Given the description of an element on the screen output the (x, y) to click on. 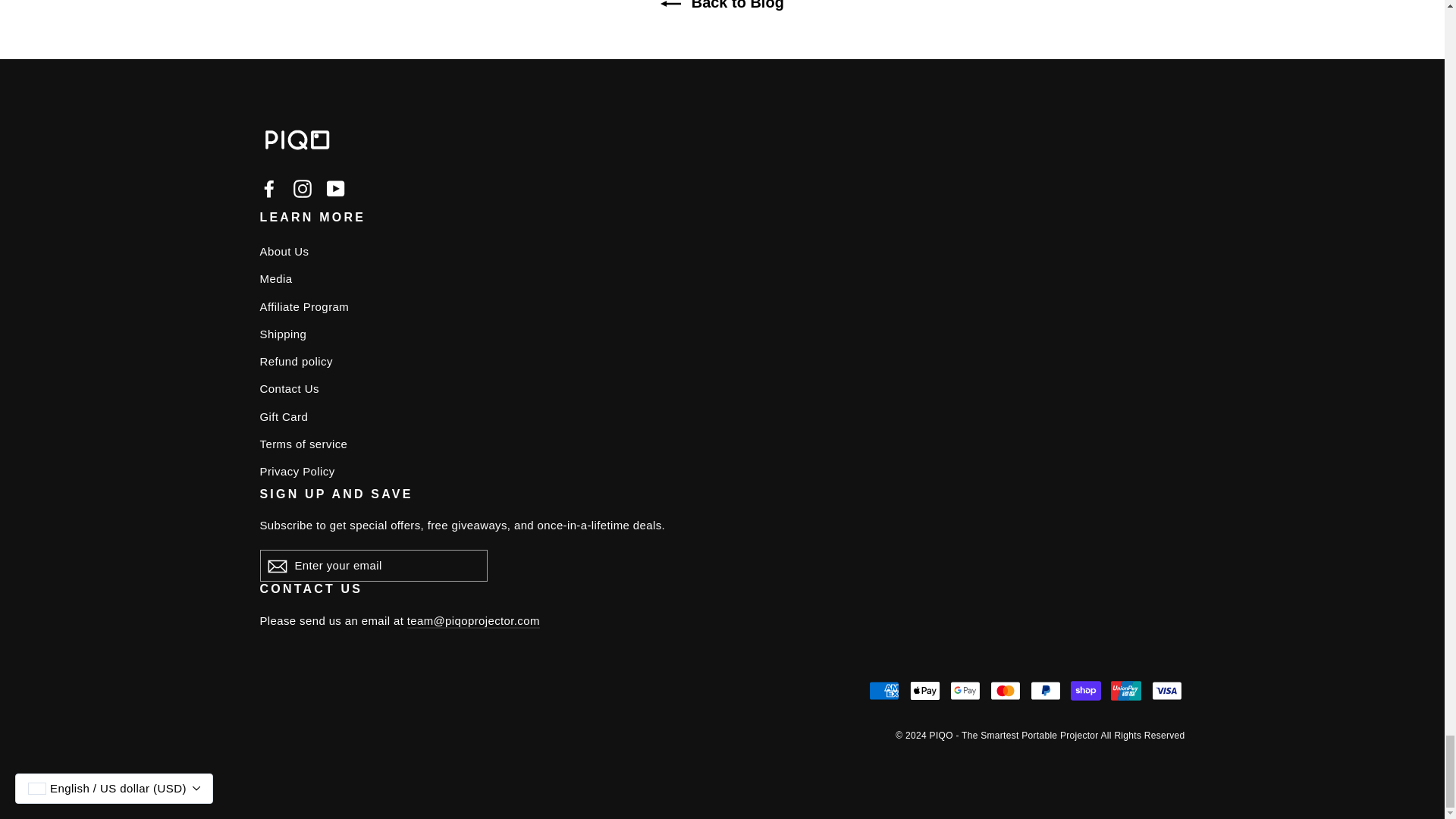
American Express (884, 690)
Apple Pay (925, 690)
Google Pay (964, 690)
Visa (1165, 690)
Shop Pay (1085, 690)
Union Pay (1125, 690)
Mastercard (1005, 690)
PIQO - The Smartest Portable Projector on Instagram (302, 188)
PayPal (1045, 690)
